Given the description of an element on the screen output the (x, y) to click on. 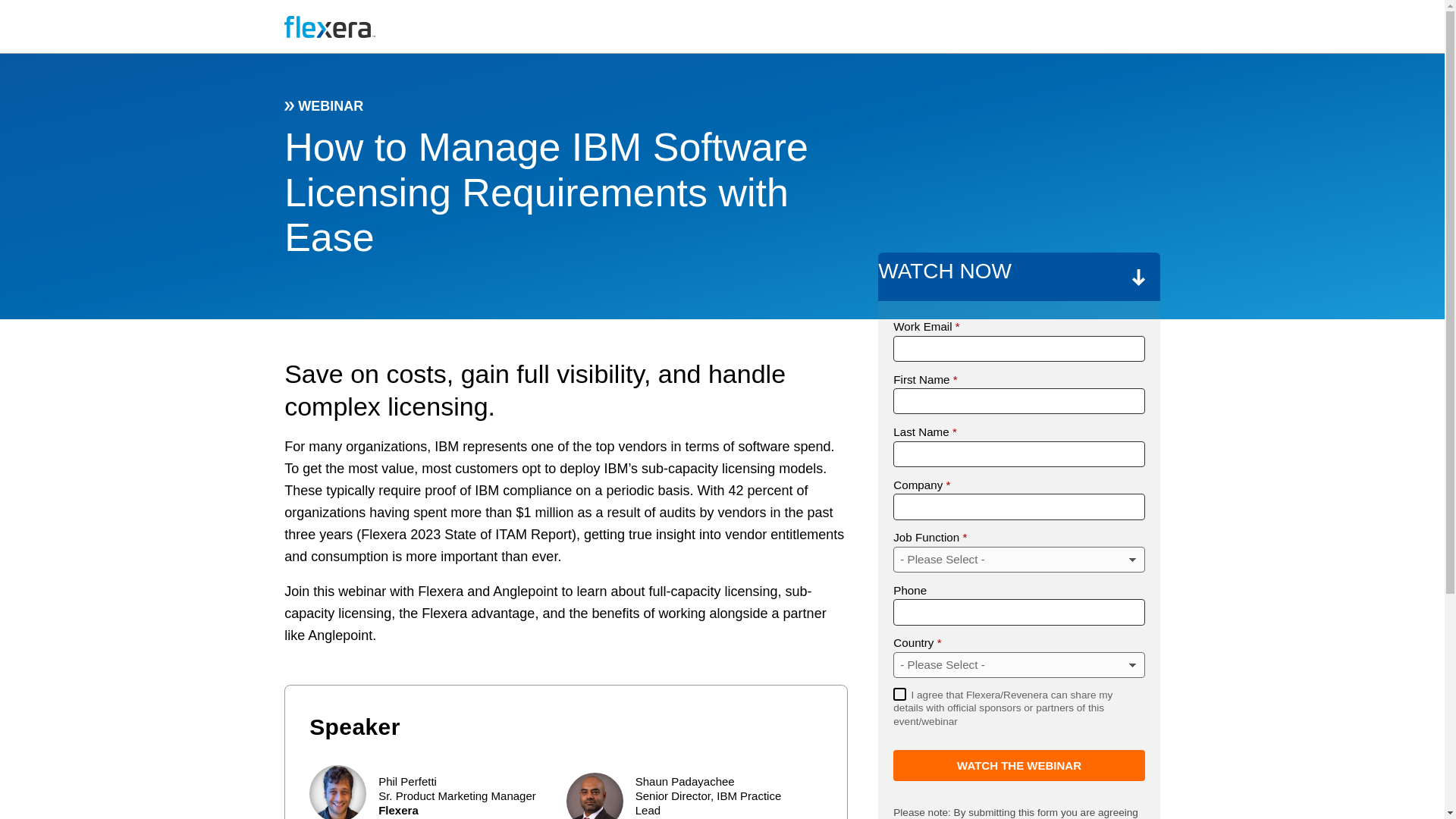
Watch the Webinar (1018, 765)
Watch the Webinar (1018, 765)
true (899, 694)
